Given the description of an element on the screen output the (x, y) to click on. 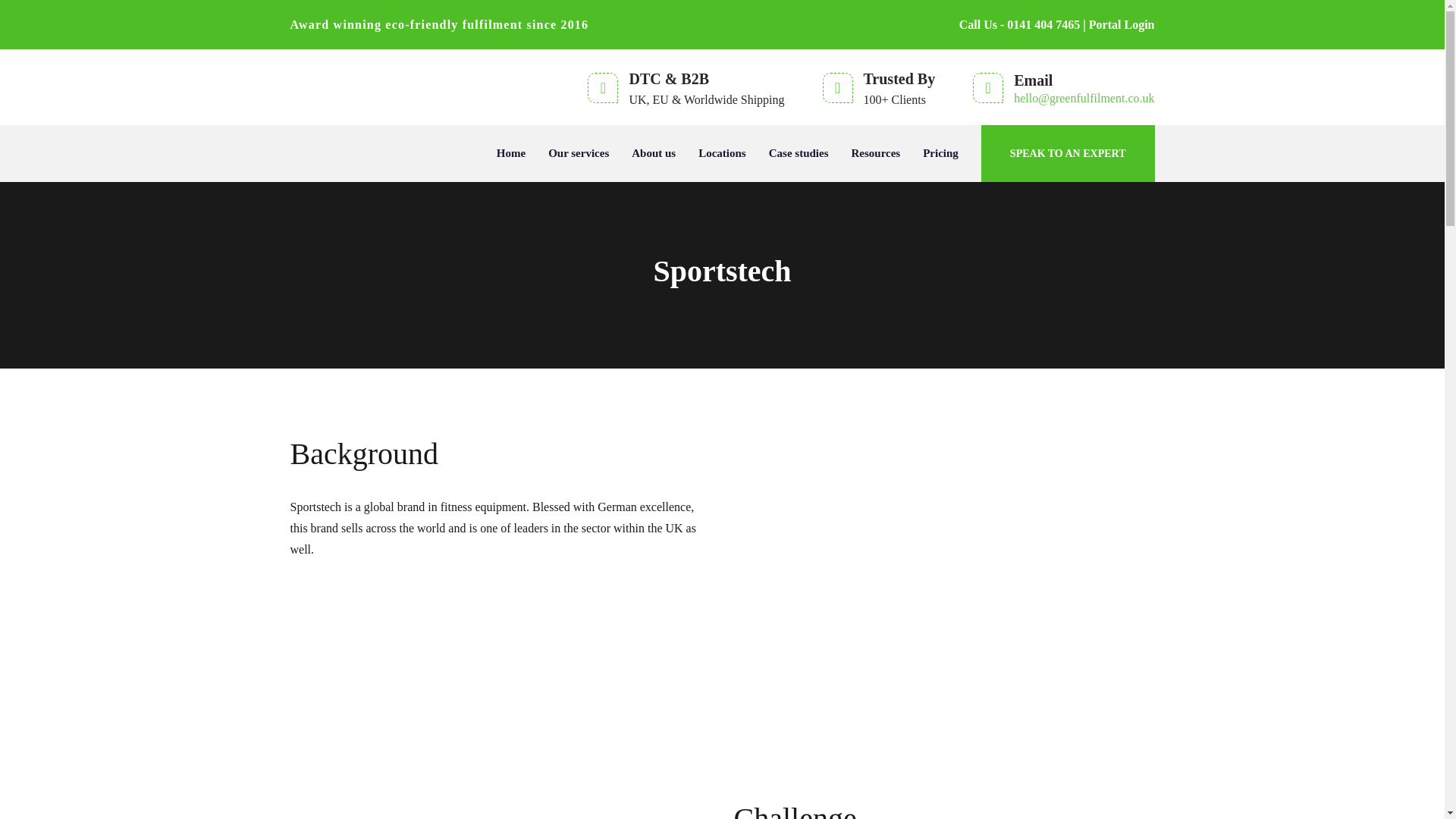
Green Fulfilment (402, 86)
Water Tumbler (927, 602)
Call Us - 0141 404 7465 (1013, 24)
About us (653, 153)
Green Fulfilment (402, 86)
group-362 (499, 810)
Our services (578, 153)
